Given the description of an element on the screen output the (x, y) to click on. 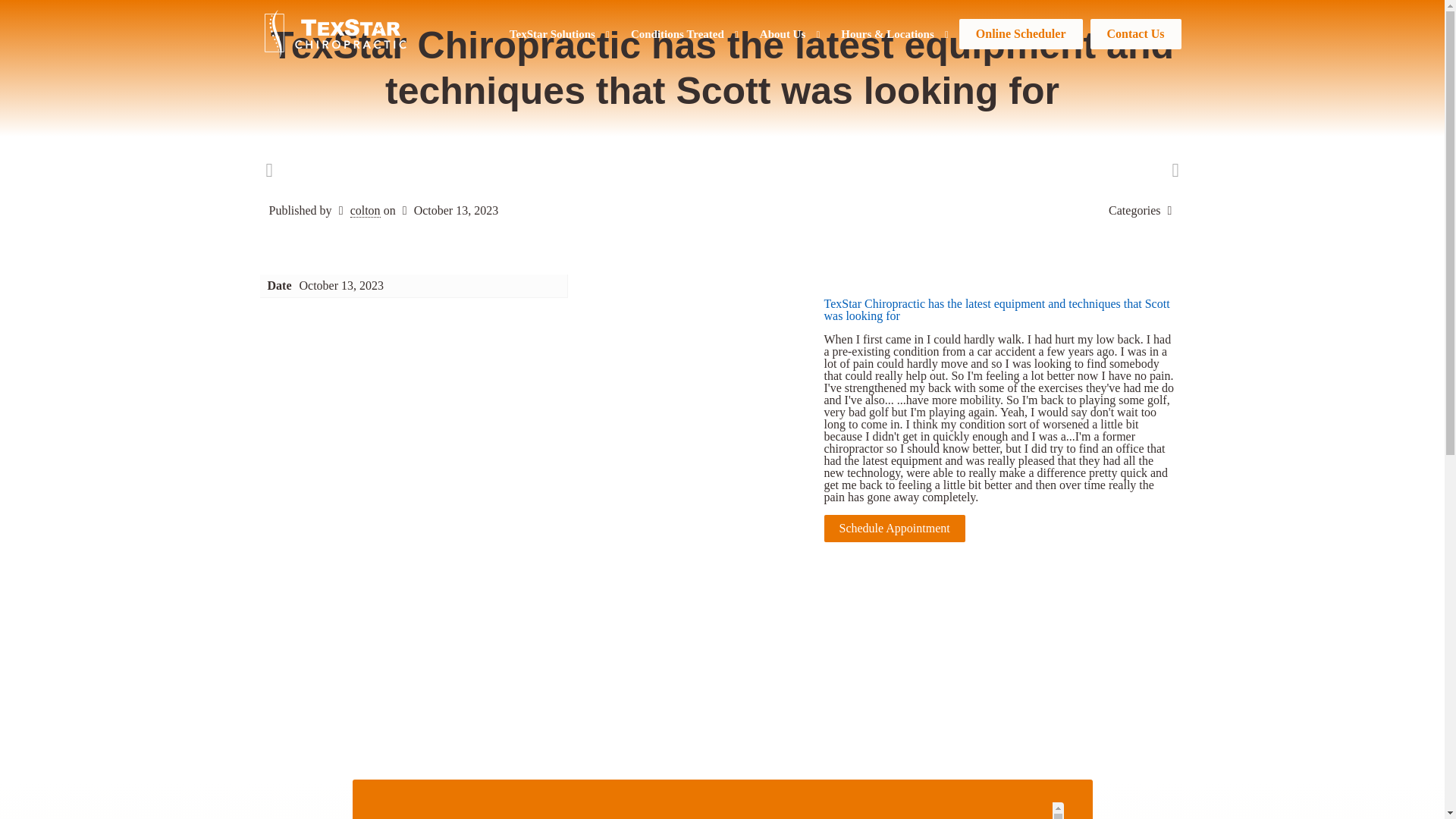
Sign-Up for Newsletter (839, 810)
TexStar Solutions (560, 34)
